Given the description of an element on the screen output the (x, y) to click on. 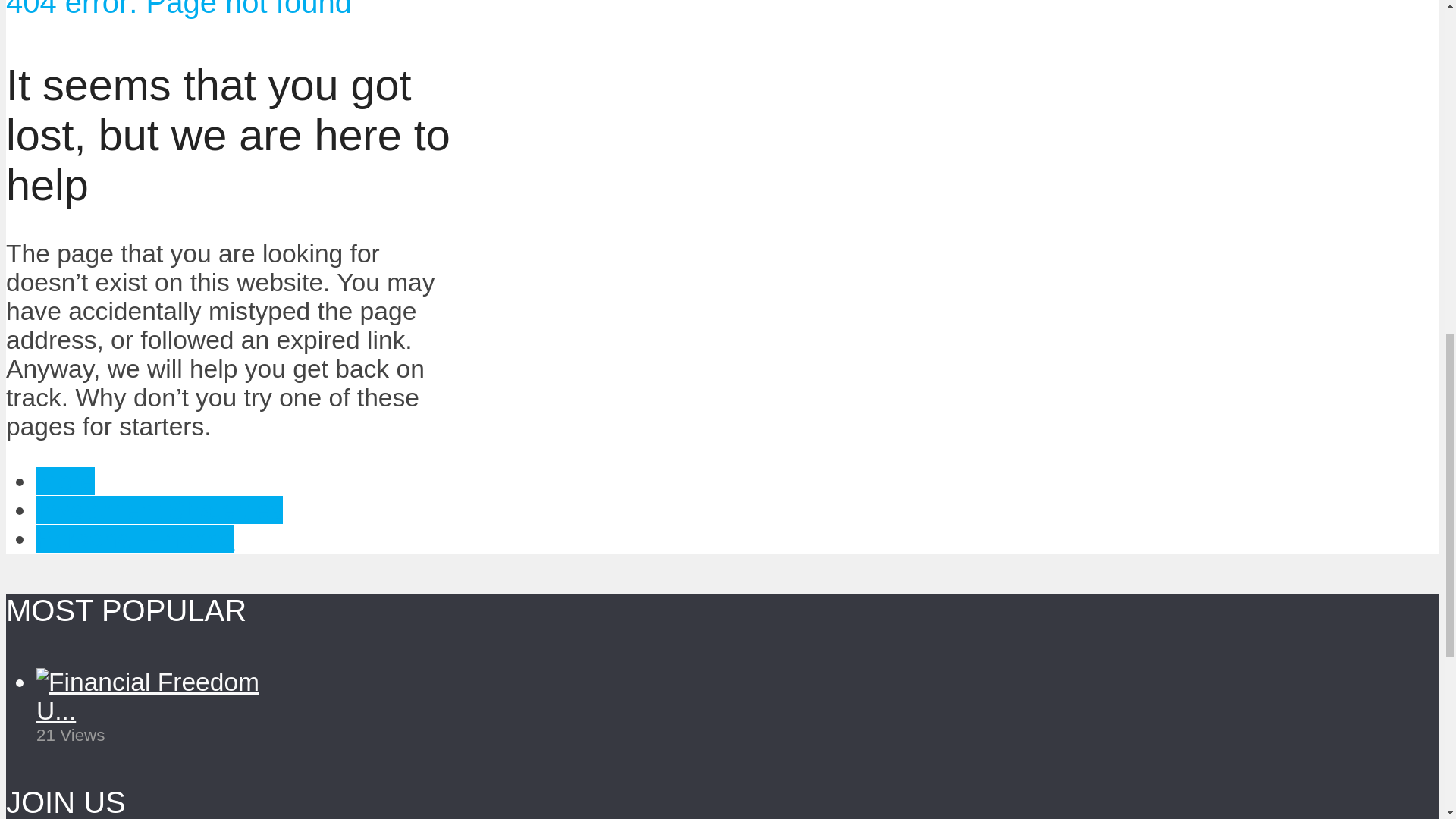
Investment Strategies (159, 510)
More (65, 480)
Personal Finance (135, 538)
U... (55, 710)
